Given the description of an element on the screen output the (x, y) to click on. 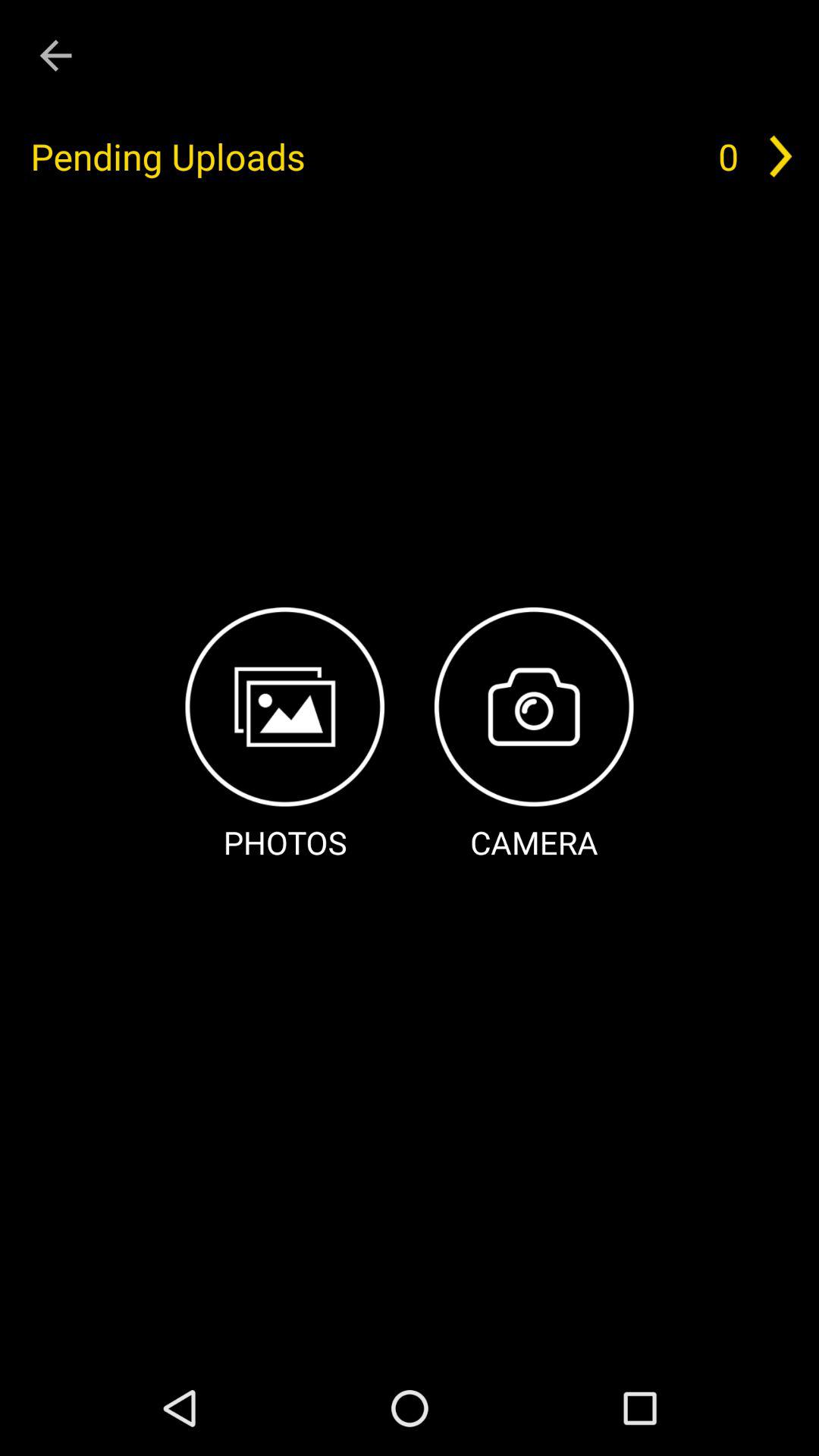
open the icon above the pending uploads item (55, 55)
